Given the description of an element on the screen output the (x, y) to click on. 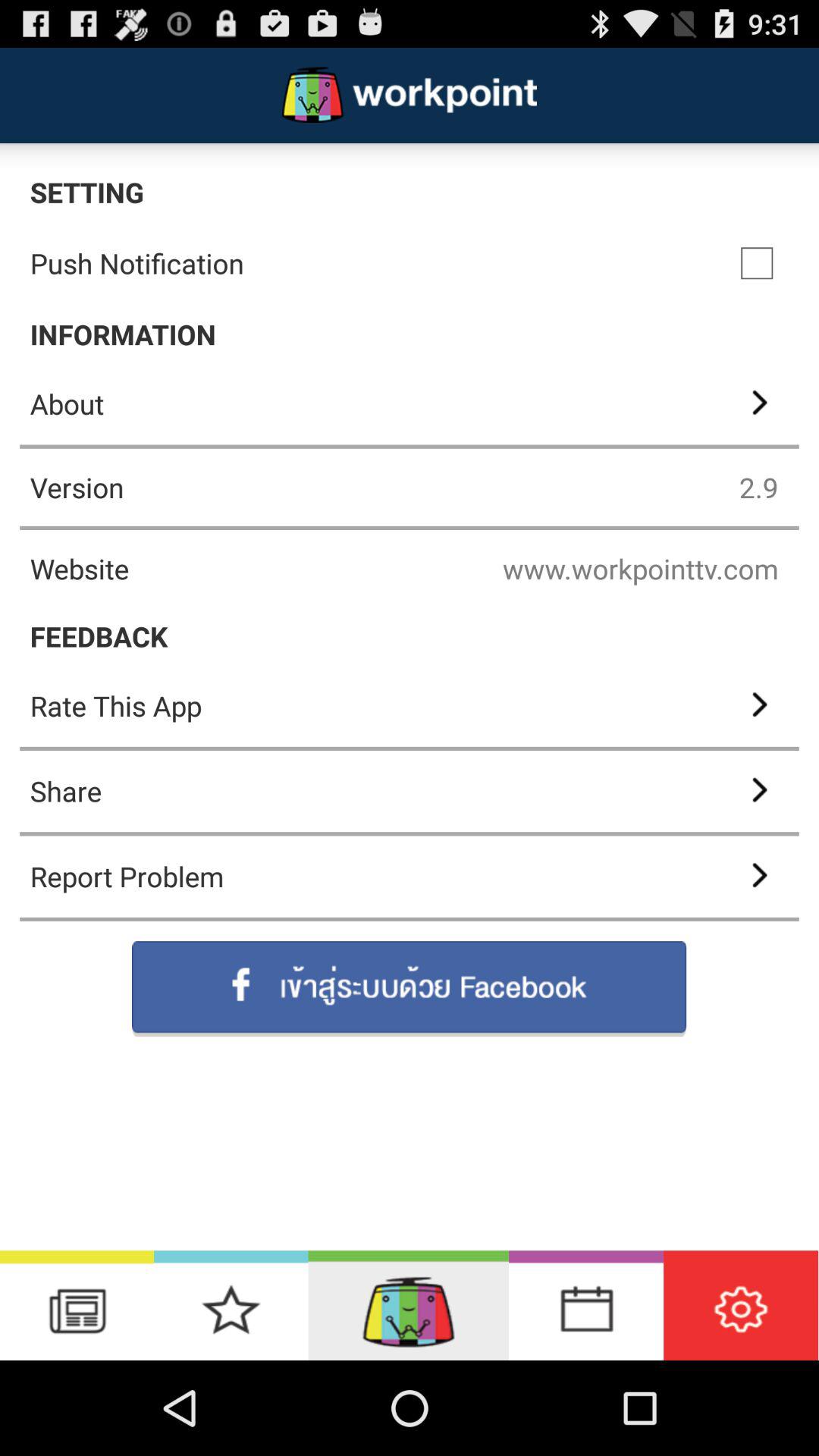
open news feed (77, 1305)
